Given the description of an element on the screen output the (x, y) to click on. 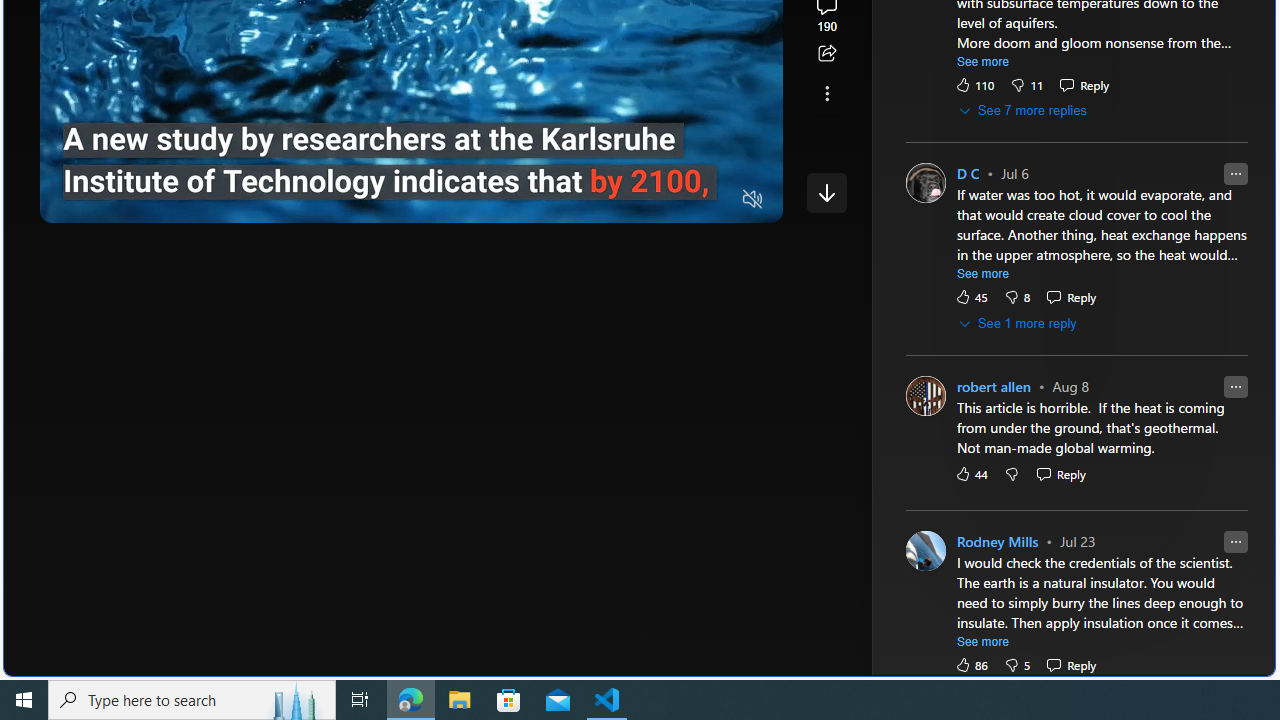
Report comment (1235, 540)
Custom Personal Discounts (1084, 186)
Seek Back (109, 200)
See 7 more replies (1023, 111)
44 Like (970, 473)
Profile Picture (924, 549)
Share this story (826, 53)
See 1 more reply (1018, 323)
D C (968, 174)
Share this story (826, 53)
